Given the description of an element on the screen output the (x, y) to click on. 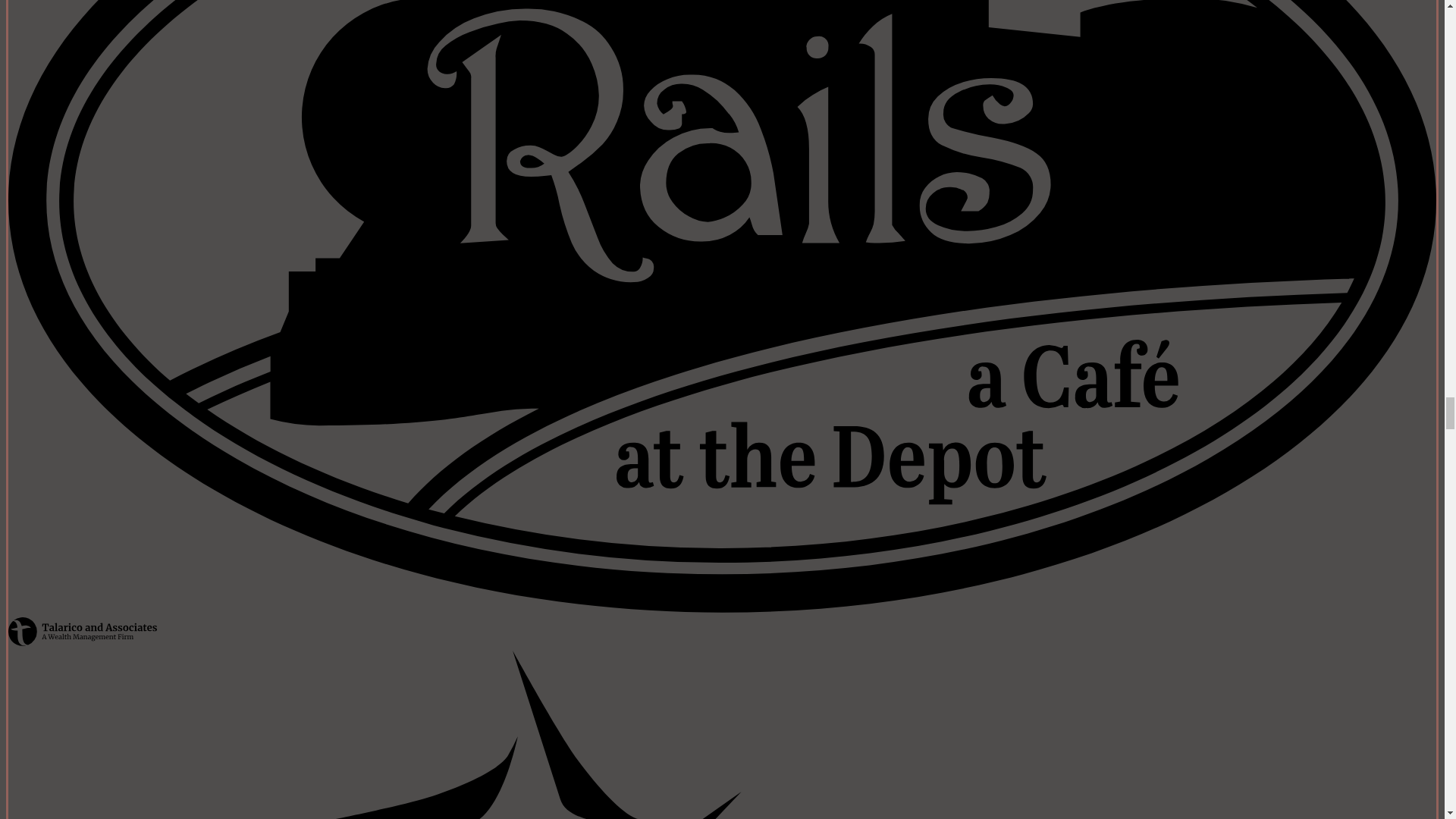
Talarico and Associates (82, 631)
